Given the description of an element on the screen output the (x, y) to click on. 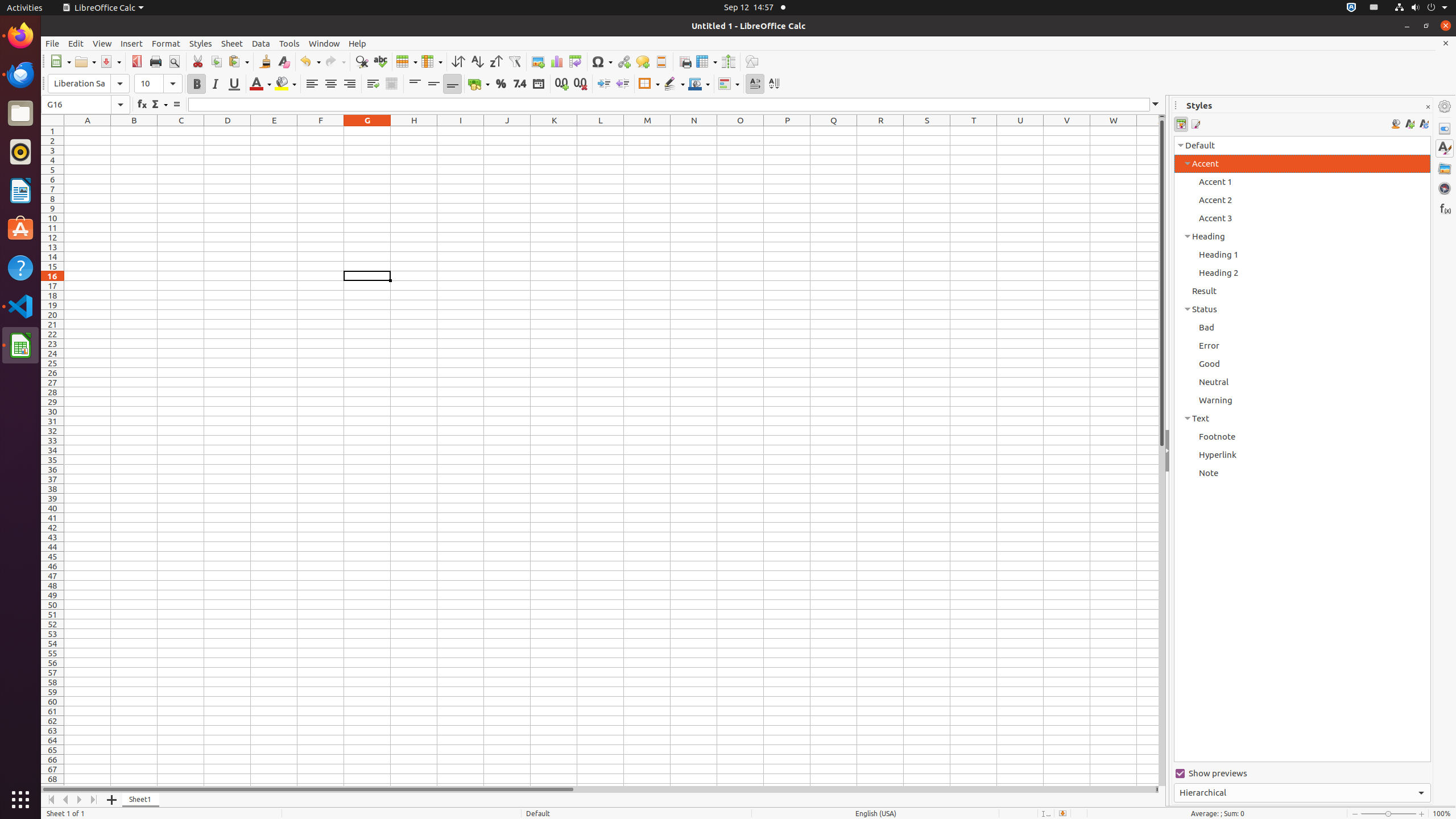
Center Vertically Element type: push-button (433, 83)
C1 Element type: table-cell (180, 130)
Files Element type: push-button (20, 113)
Freeze Rows and Columns Element type: push-button (705, 61)
Fill Format Mode Element type: push-button (1395, 123)
